Given the description of an element on the screen output the (x, y) to click on. 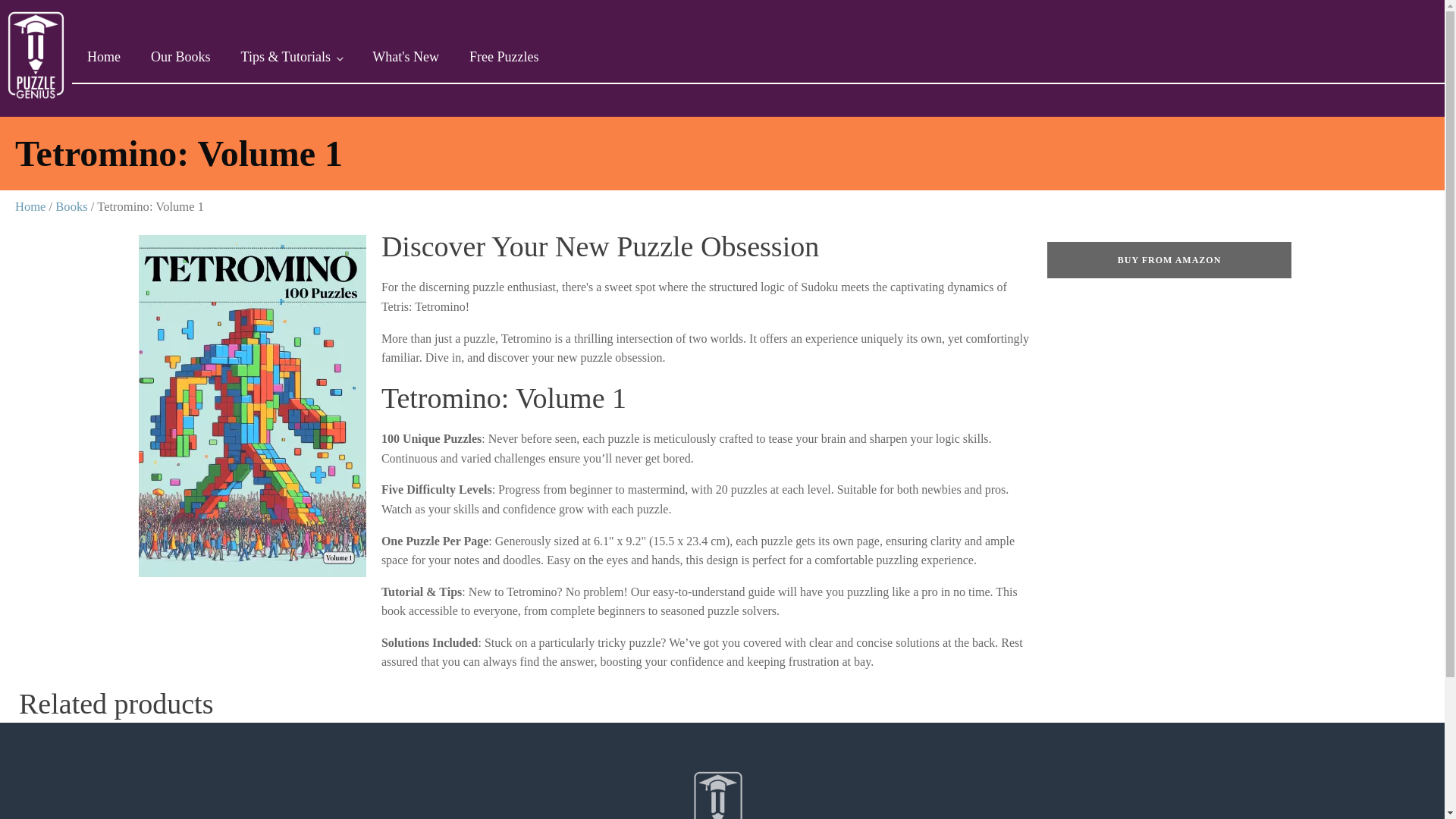
Our Books (180, 56)
Home (29, 206)
Home (103, 56)
What's New (405, 56)
BUY FROM AMAZON (1168, 259)
Books (71, 206)
Free Puzzles (503, 56)
